Given the description of an element on the screen output the (x, y) to click on. 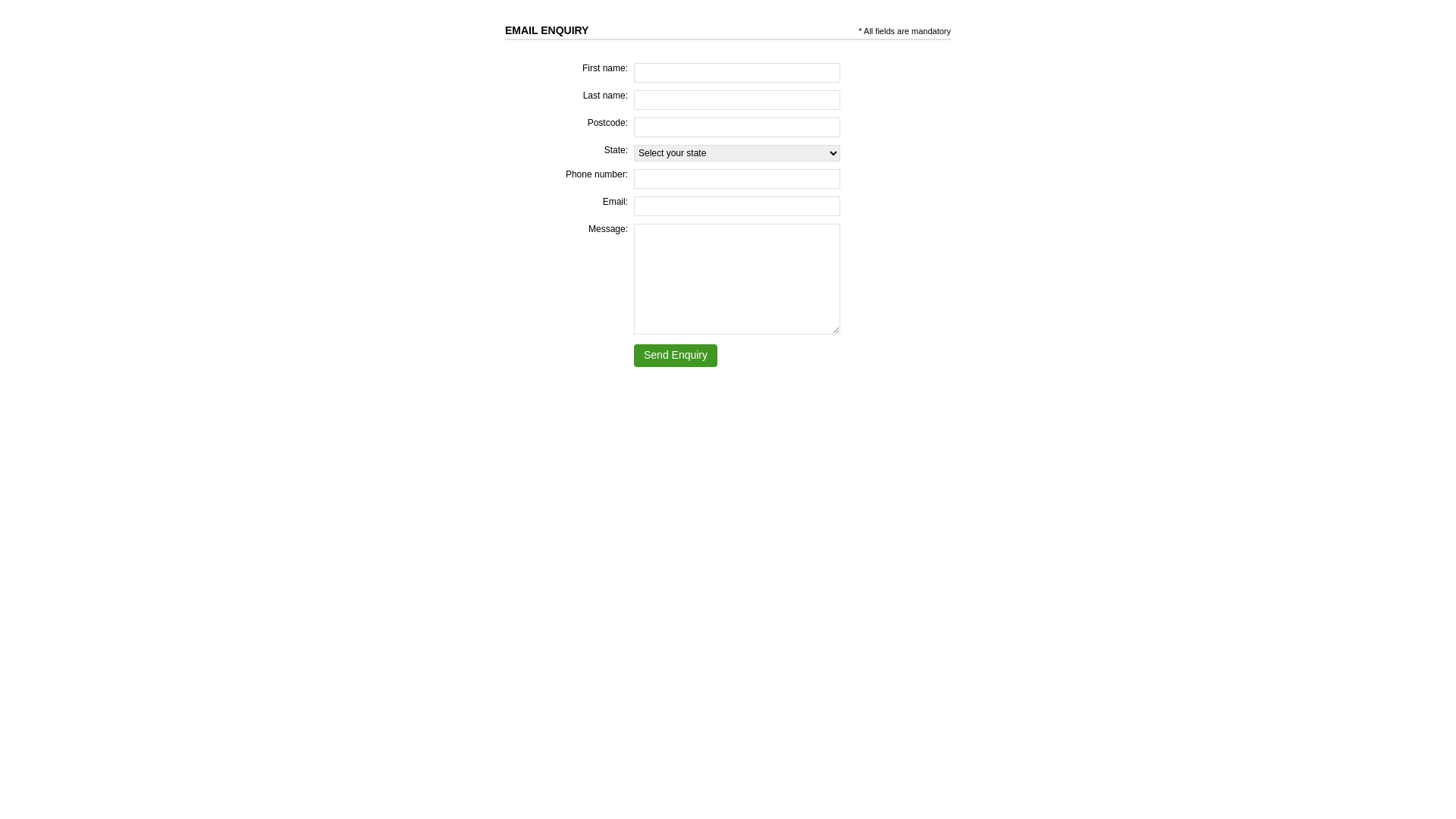
  Element type: text (589, 30)
Send Enquiry Element type: text (675, 355)
